Given the description of an element on the screen output the (x, y) to click on. 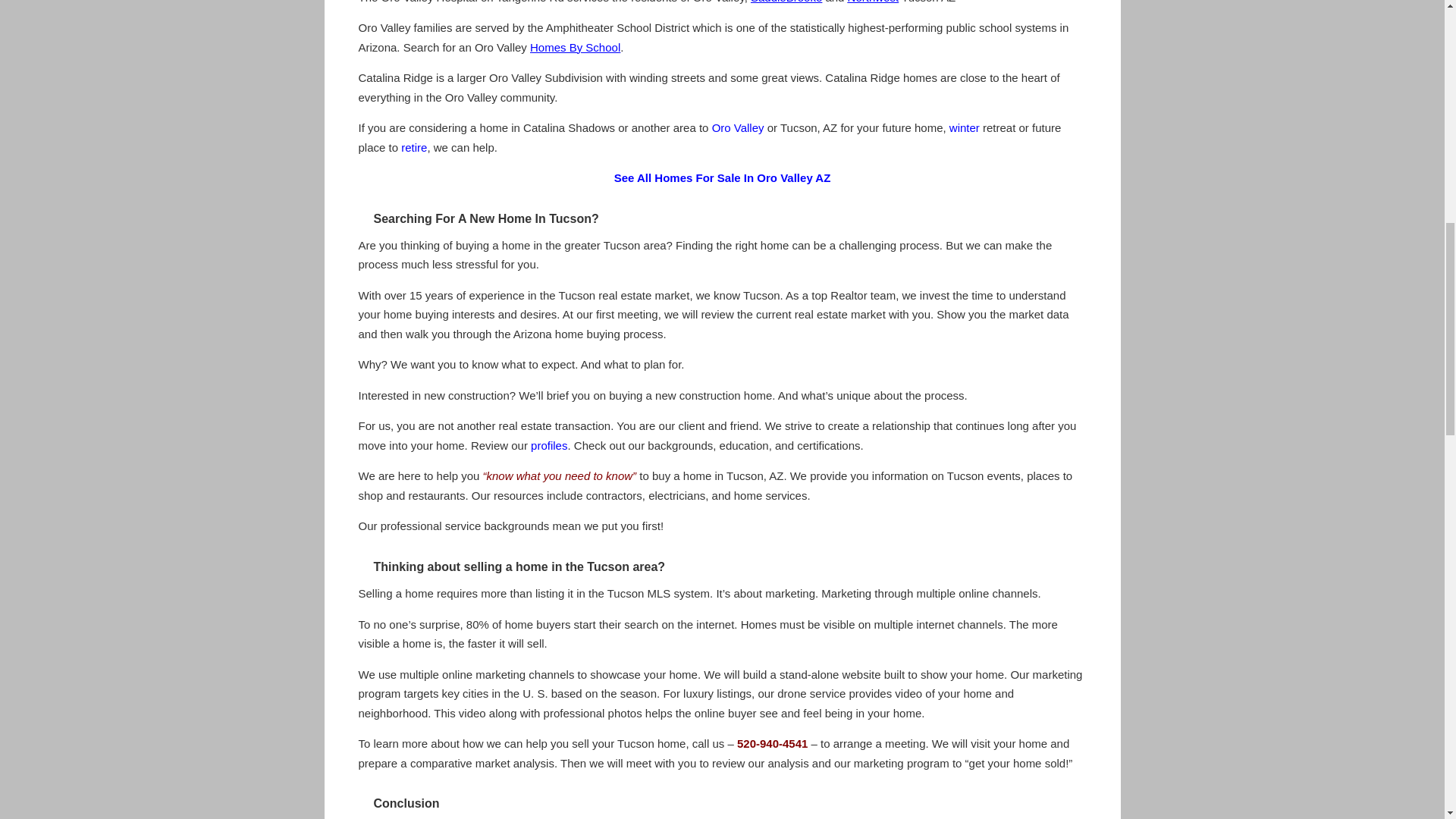
Oro Valley (737, 127)
SaddleBrooke (786, 2)
Northwest (873, 2)
See All Homes For Sale In Oro Valley AZ (722, 177)
winter (964, 127)
profiles (549, 445)
retire (413, 146)
Homes By School (574, 47)
